Given the description of an element on the screen output the (x, y) to click on. 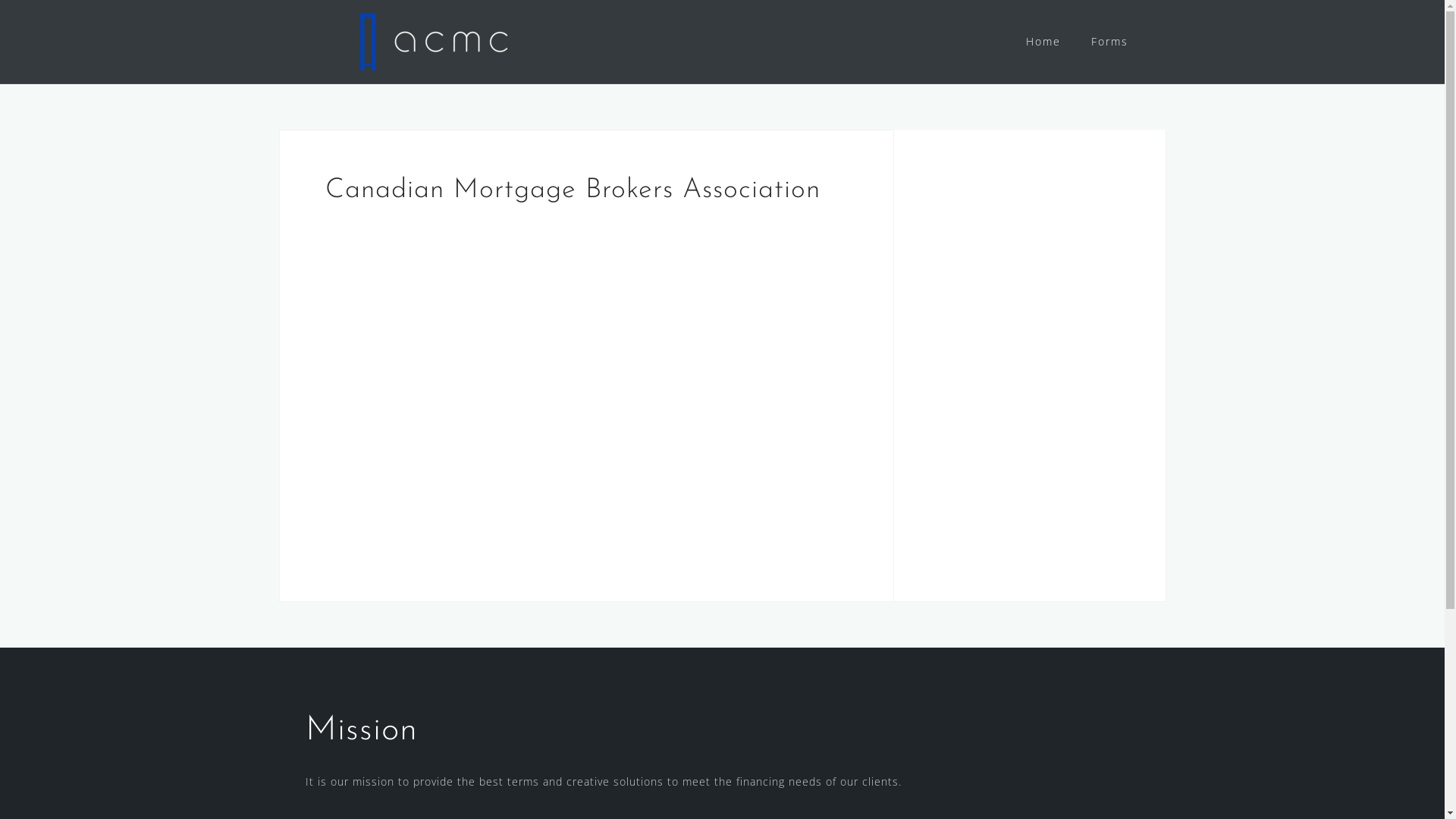
Home Element type: text (1042, 41)
Forms Element type: text (1108, 41)
Canadian Mortgage Brokers Association Element type: hover (494, 379)
